Given the description of an element on the screen output the (x, y) to click on. 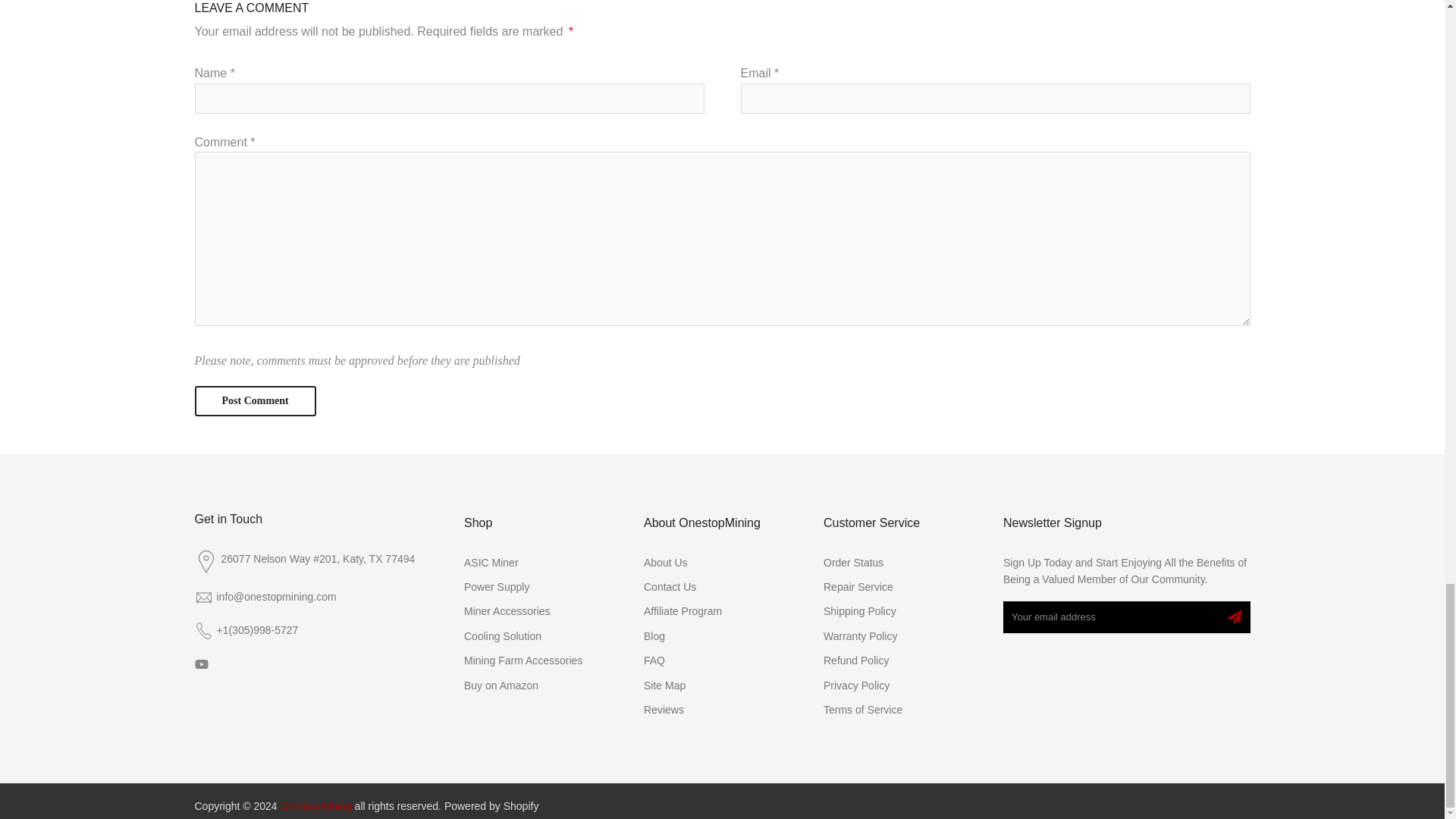
Follow on YouTube (200, 664)
Post Comment (254, 400)
ASIC Miner (491, 562)
Post Comment (254, 400)
